Given the description of an element on the screen output the (x, y) to click on. 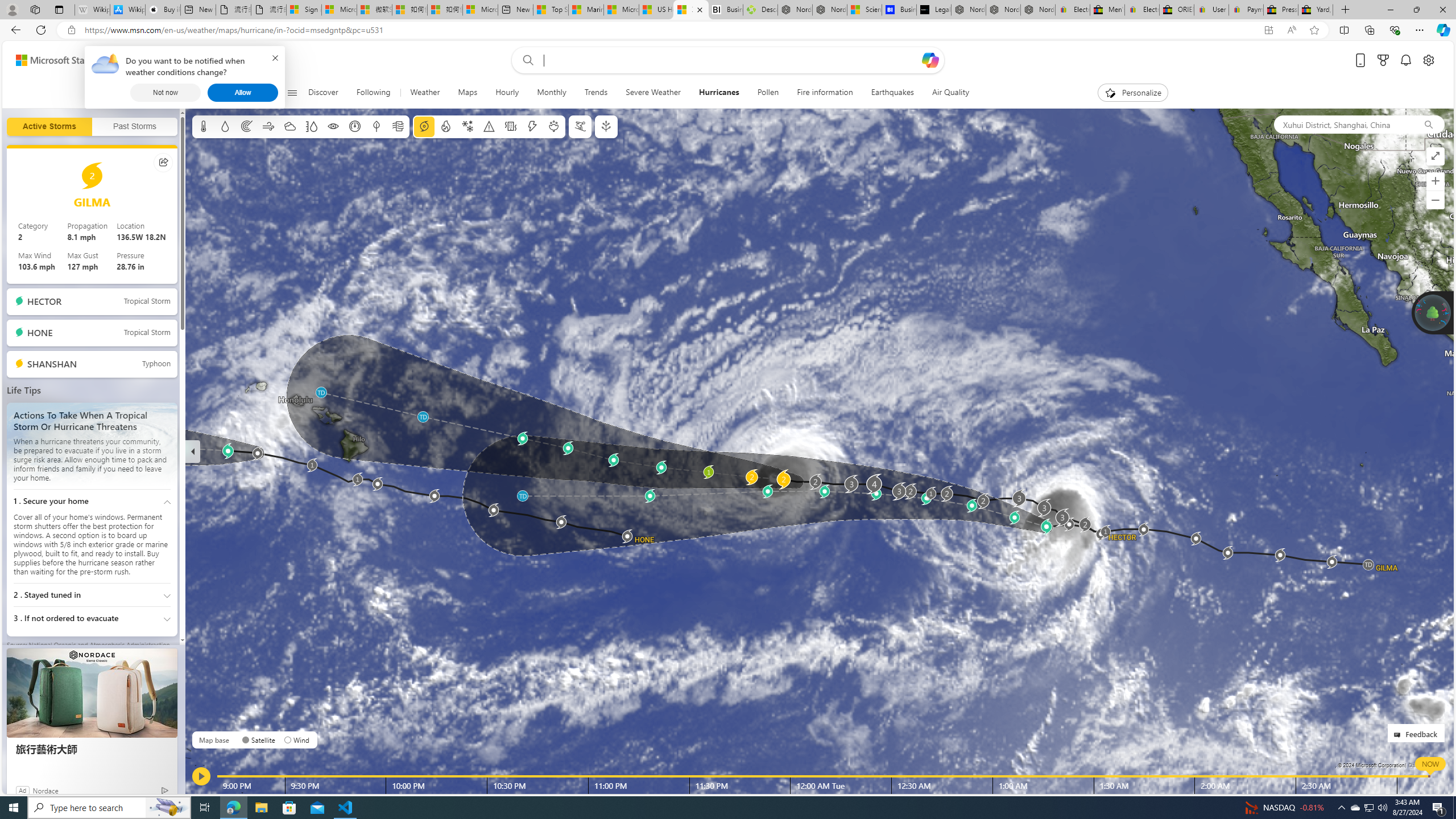
Maps (467, 92)
Clouds (289, 126)
Active Storms (49, 126)
Wind (267, 126)
Past Storms (134, 126)
